Given the description of an element on the screen output the (x, y) to click on. 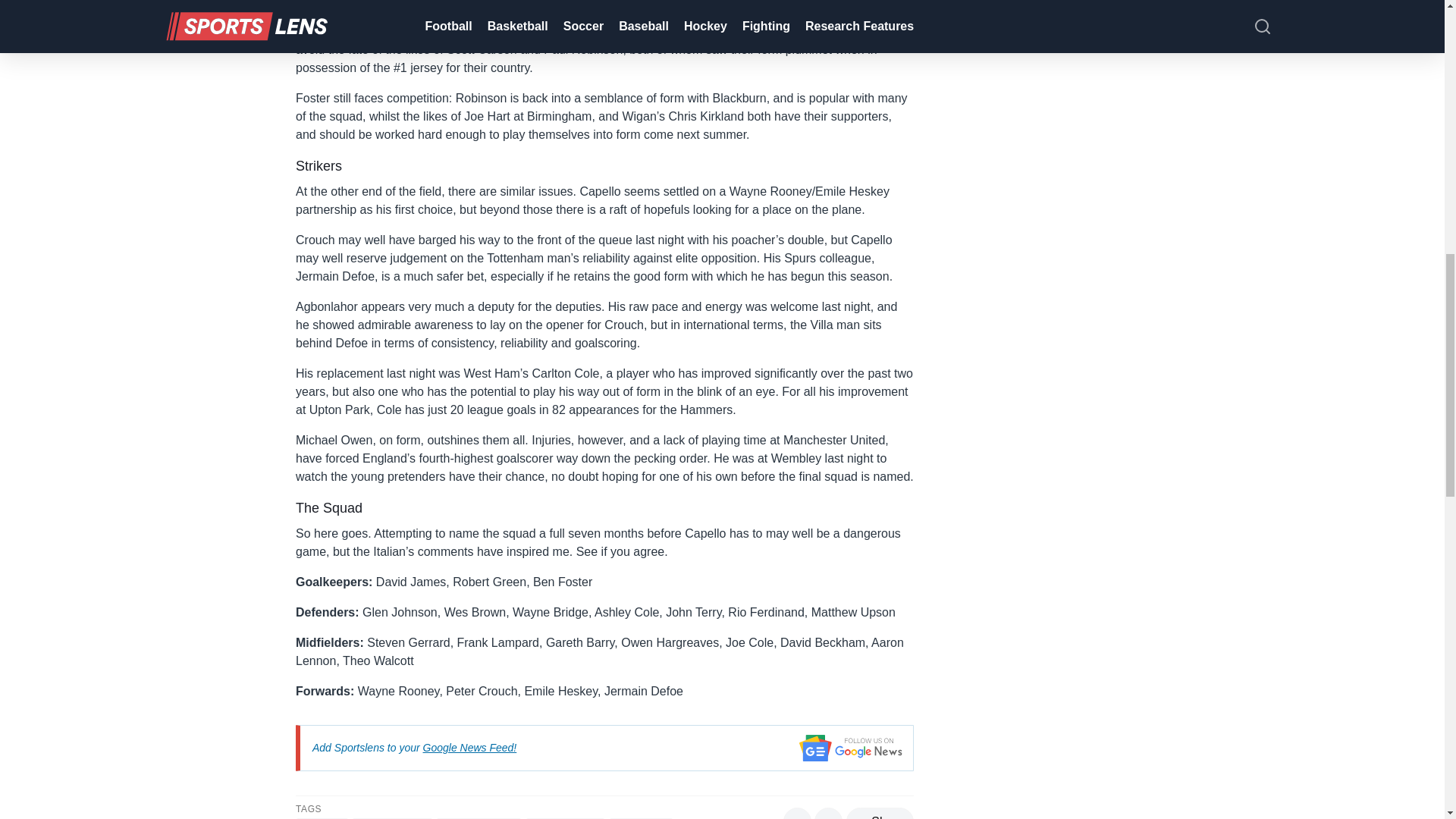
Google News Feed! (469, 747)
Share (879, 812)
ENGLAND (322, 818)
WORLD CUP (640, 818)
